Given the description of an element on the screen output the (x, y) to click on. 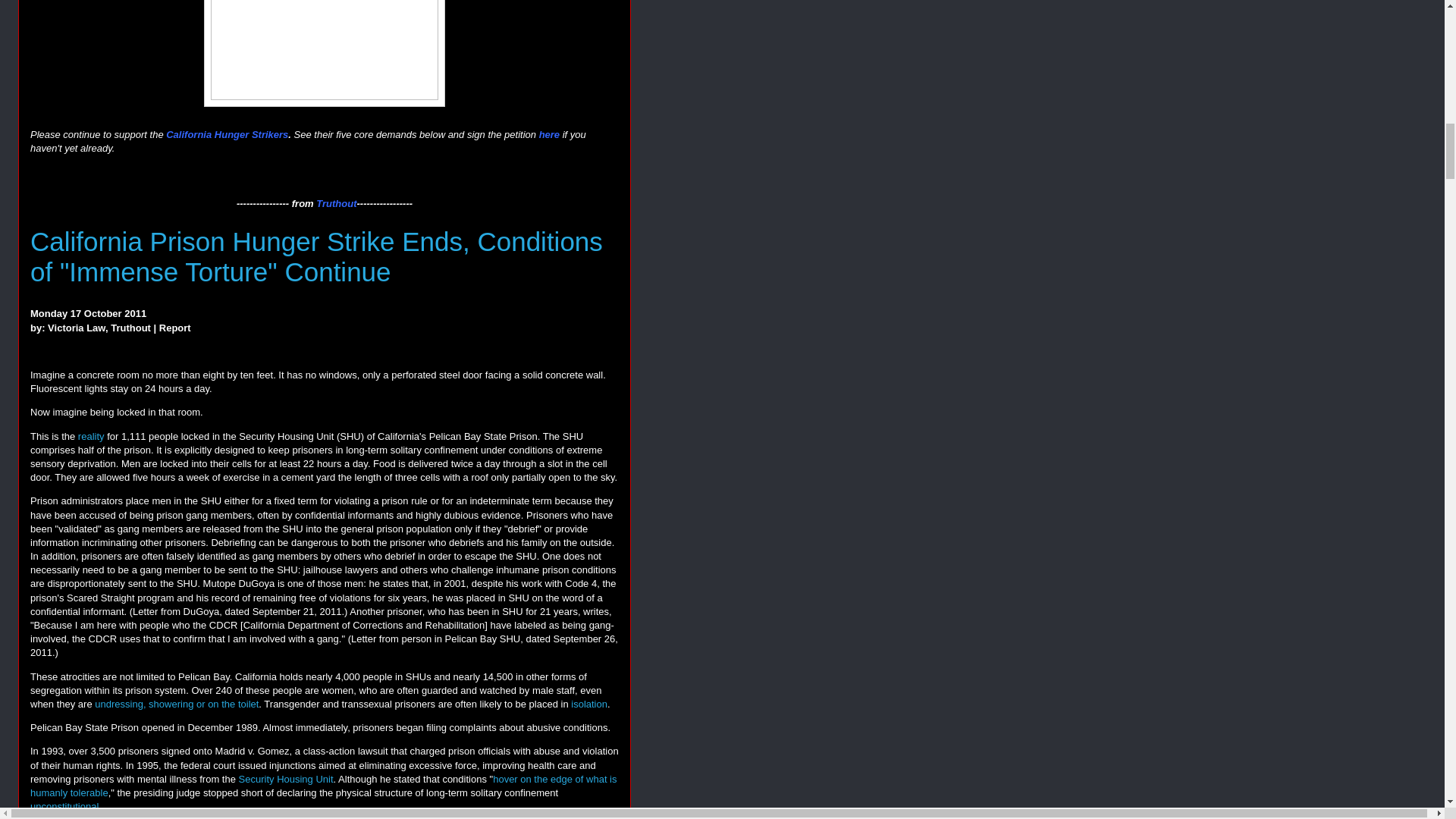
isolation (588, 704)
Security Housing Unit (285, 778)
Truthout (335, 203)
undressing, showering or on the toilet (176, 704)
hover on the edge of what is humanly tolerable (323, 785)
here (548, 134)
California Hunger Strikers (226, 134)
reality (91, 436)
unconstitutional (64, 806)
